Given the description of an element on the screen output the (x, y) to click on. 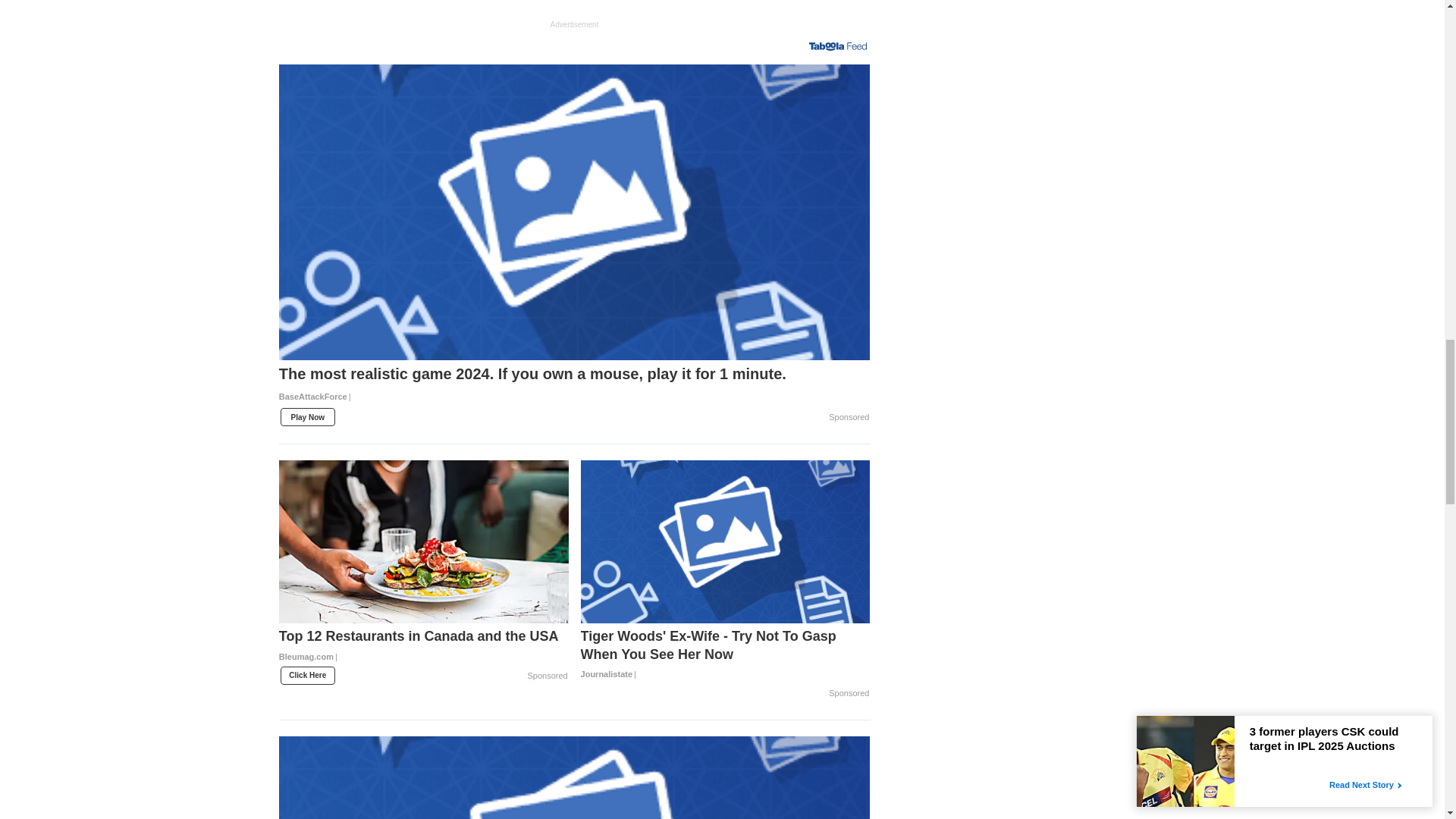
Sponsored (848, 417)
Sponsored (547, 676)
Play Now (307, 416)
Click Here (307, 675)
